Given the description of an element on the screen output the (x, y) to click on. 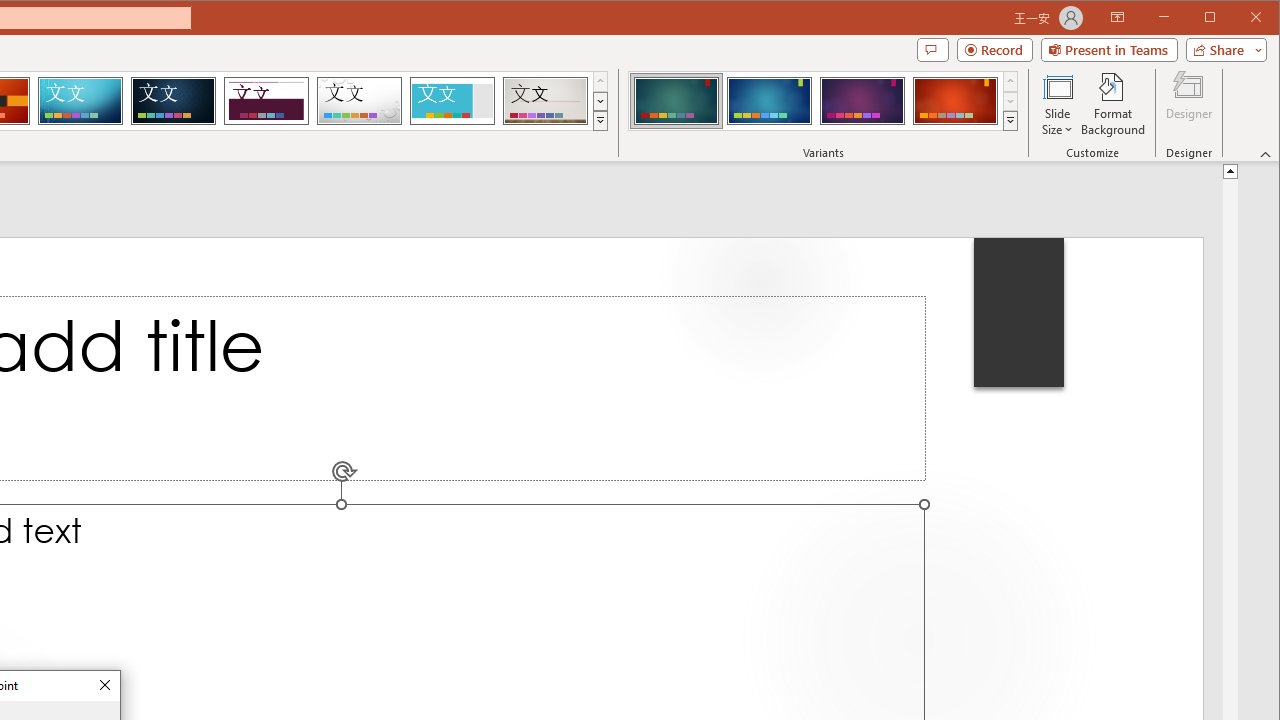
Droplet (359, 100)
Damask (173, 100)
